Given the description of an element on the screen output the (x, y) to click on. 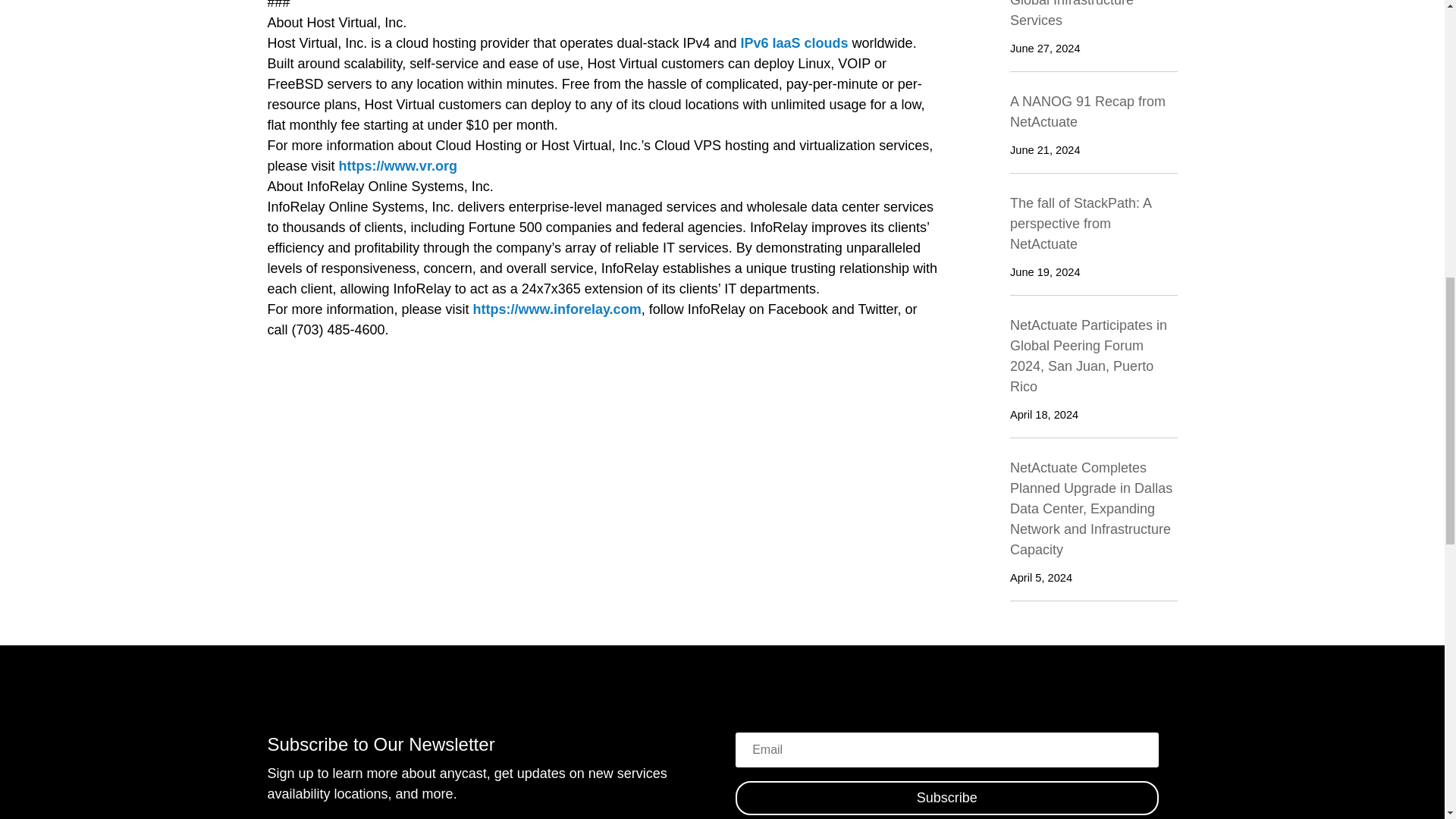
IPv6 IaaS clouds (794, 43)
A NANOG 91 Recap from NetActuate (1088, 111)
The fall of StackPath: A perspective from NetActuate (1080, 223)
